Given the description of an element on the screen output the (x, y) to click on. 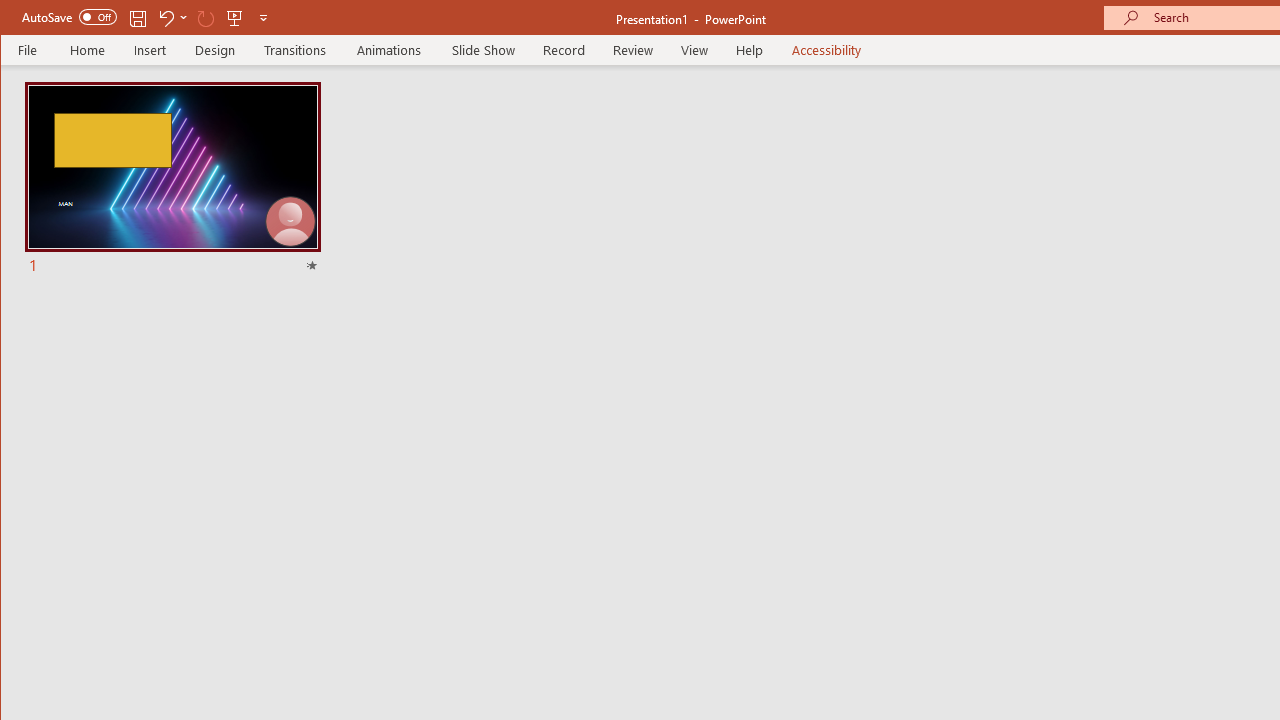
Help (749, 50)
Customize Quick Access Toolbar (263, 17)
System (18, 18)
Transitions (294, 50)
Slide (172, 180)
Redo (206, 17)
Home (87, 50)
File Tab (28, 49)
Quick Access Toolbar (146, 17)
Save (138, 17)
Undo (171, 17)
AutoSave (68, 16)
Animations (388, 50)
More Options (183, 17)
